Given the description of an element on the screen output the (x, y) to click on. 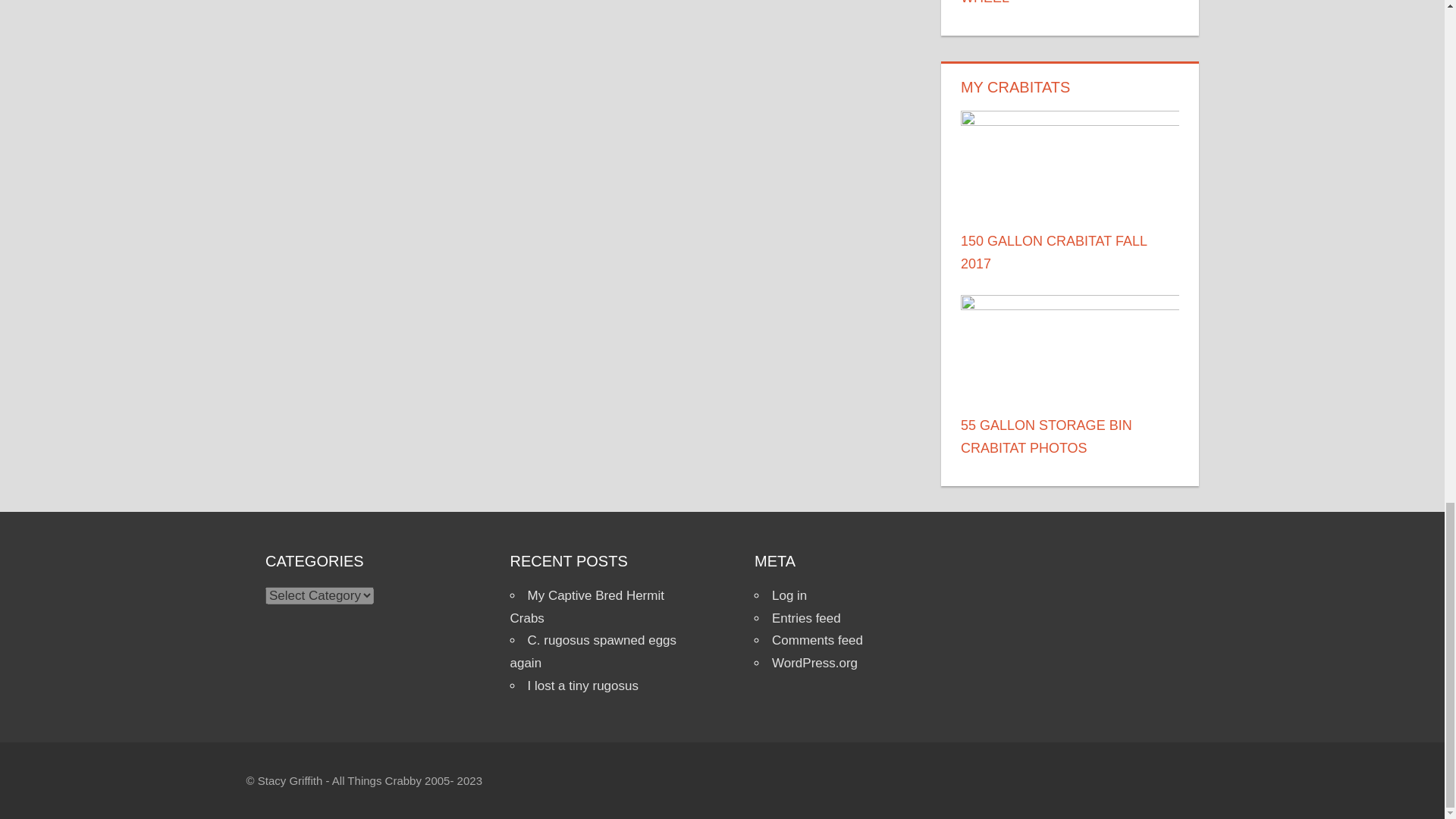
55 GALLON STORAGE BIN CRABITAT PHOTOS (1046, 436)
6:38 pm (1018, 285)
7:59 pm (1006, 19)
July 19, 2017 (1006, 469)
HERMIT CRABS ON A HAMSTER WHEEL (1065, 2)
My Captive Bred Hermit Crabs (586, 606)
MY CRABITATS (1015, 86)
View all posts from category Crabitats (1015, 86)
150 GALLON CRABITAT FALL 2017 (1053, 252)
Log in (788, 595)
I lost a tiny rugosus (583, 685)
July 15, 2017 (1006, 19)
December 7, 2017 (1018, 285)
C. rugosus spawned eggs again (593, 651)
2:56 pm (1006, 469)
